Given the description of an element on the screen output the (x, y) to click on. 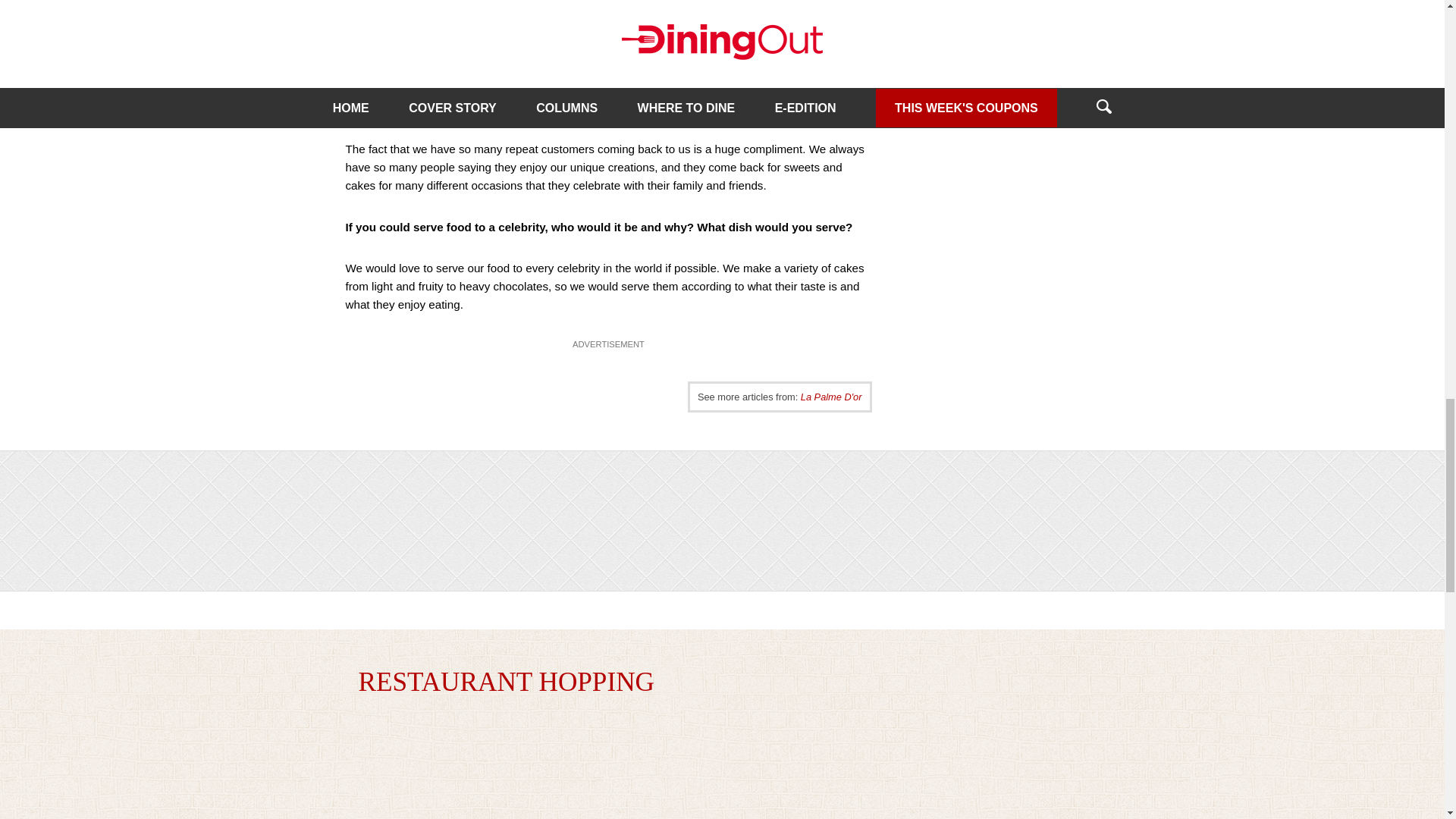
La Palme D'or (830, 396)
